Given the description of an element on the screen output the (x, y) to click on. 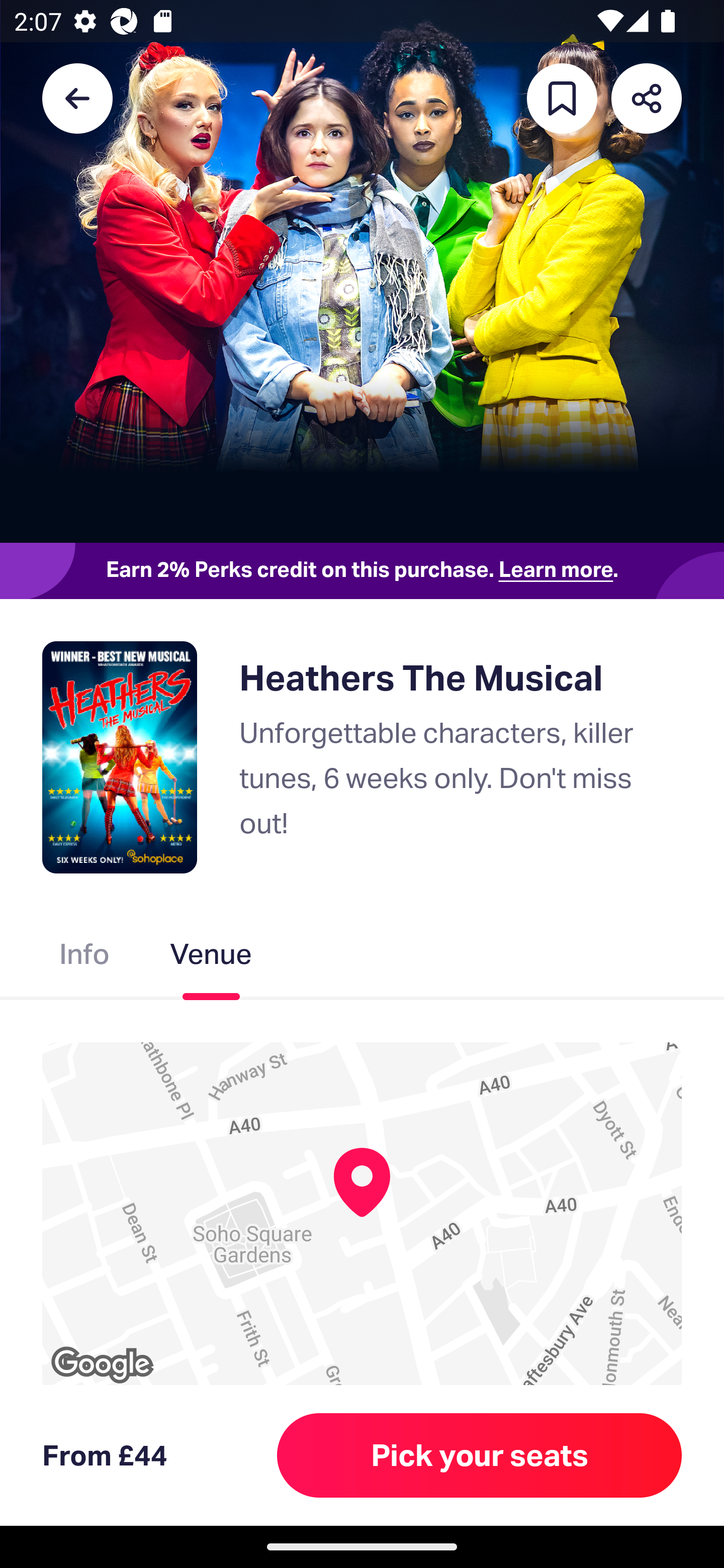
Earn 2% Perks credit on this purchase. Learn more. (362, 570)
Info (83, 957)
Google Map Soho Place.  (361, 1217)
Pick your seats (479, 1454)
